Given the description of an element on the screen output the (x, y) to click on. 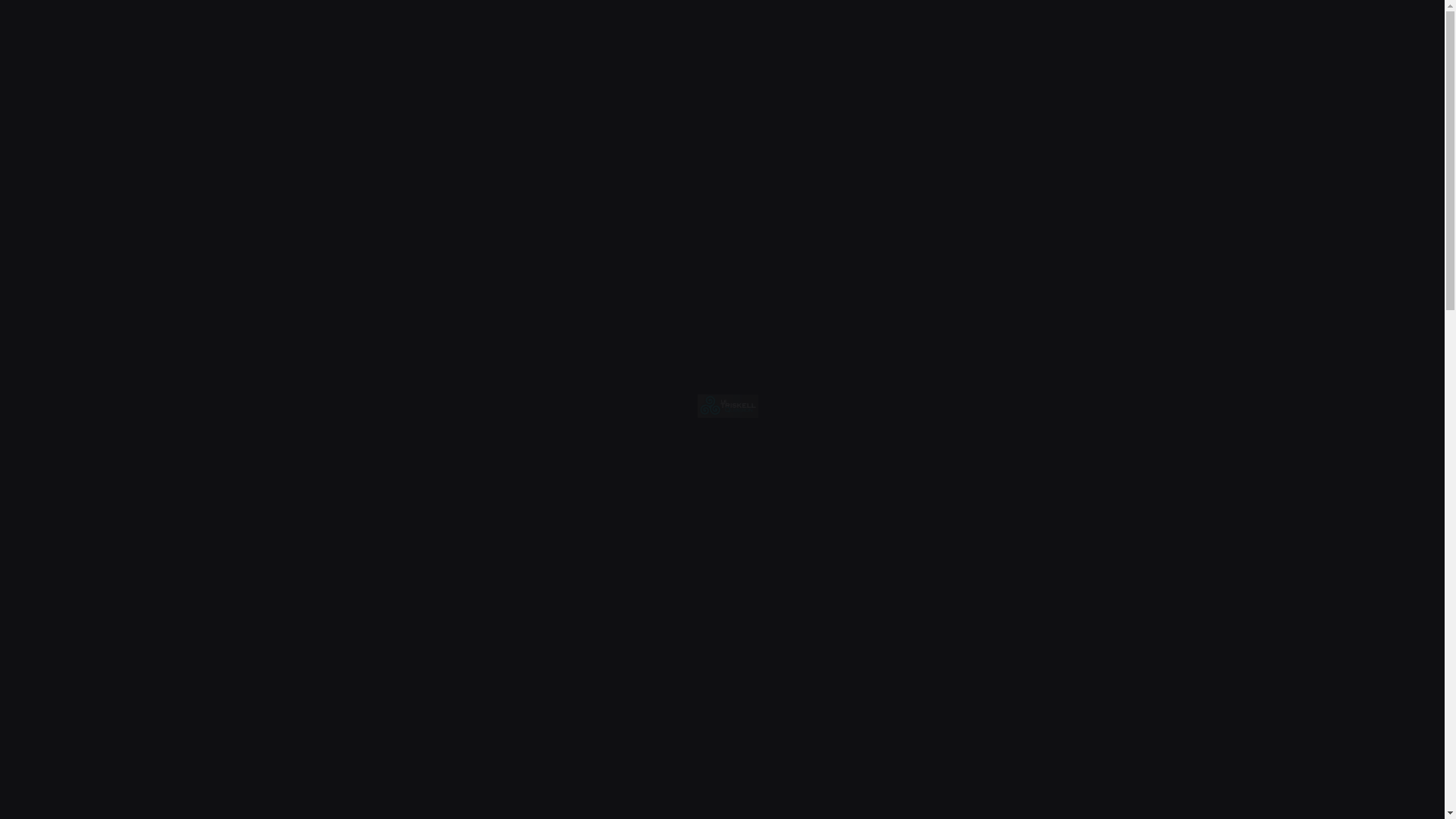
PHOTOS Element type: text (1016, 26)
Le Triskell  Element type: hover (721, 664)
Accueil Le Triskell Element type: hover (727, 412)
Le Triskell  Element type: hover (1128, 664)
Accueil Le Triskell Element type: hover (55, 26)
CARTES & MENUS Element type: text (937, 26)
Facebook Element type: hover (1416, 119)
Le Triskell  Element type: hover (315, 664)
AVIS Element type: text (1060, 26)
